Given the description of an element on the screen output the (x, y) to click on. 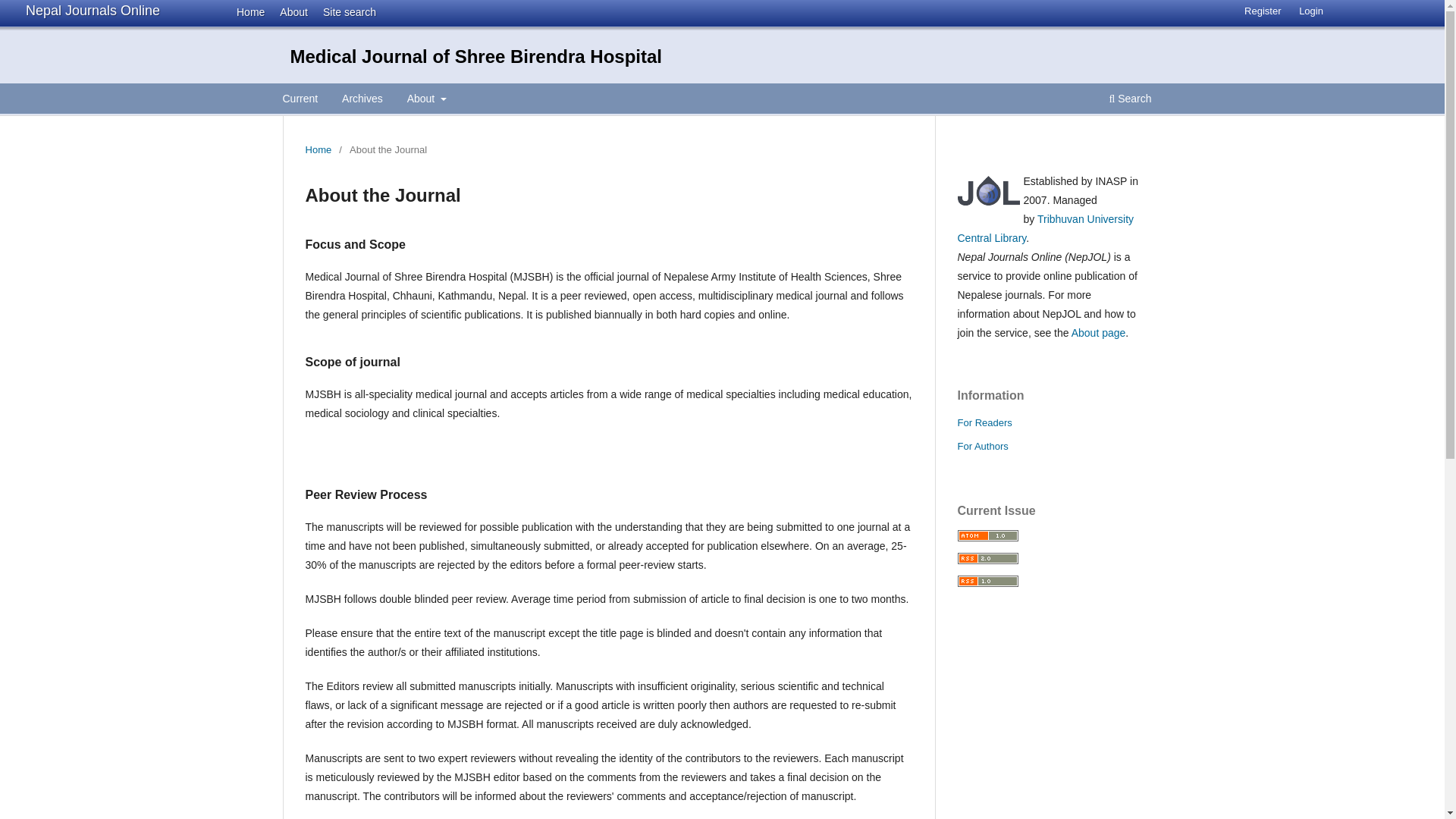
Medical Journal of Shree Birendra Hospital (475, 56)
Archives (362, 99)
Home (245, 11)
Login (1310, 11)
About page (1098, 332)
Nepal Journals Online (93, 10)
Site search (344, 11)
About (426, 99)
For Readers (983, 422)
Register (1262, 11)
